Given the description of an element on the screen output the (x, y) to click on. 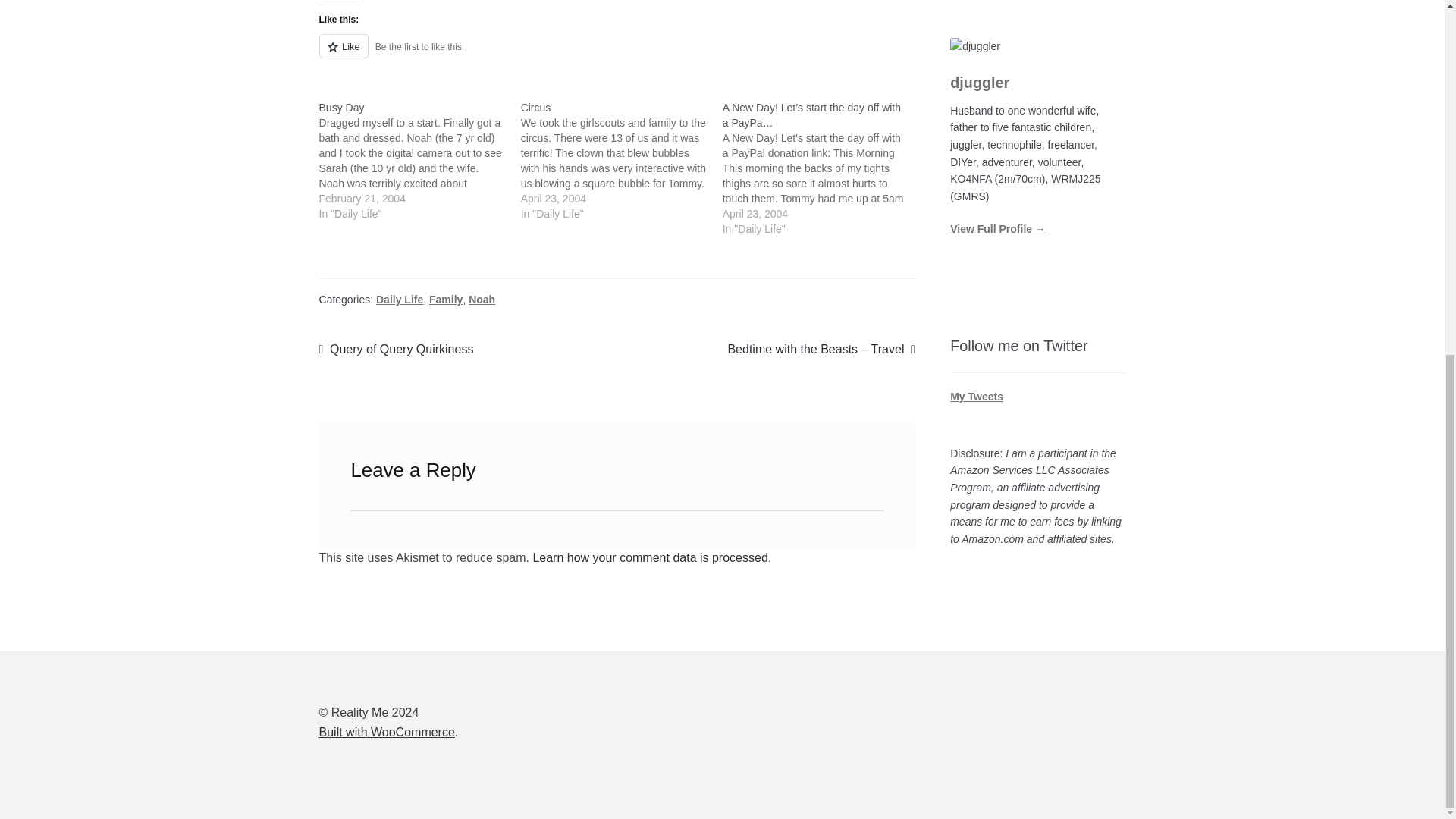
Busy Day (341, 107)
Like or Reblog (616, 55)
Circus (621, 160)
Circus (536, 107)
Busy Day (419, 160)
